Given the description of an element on the screen output the (x, y) to click on. 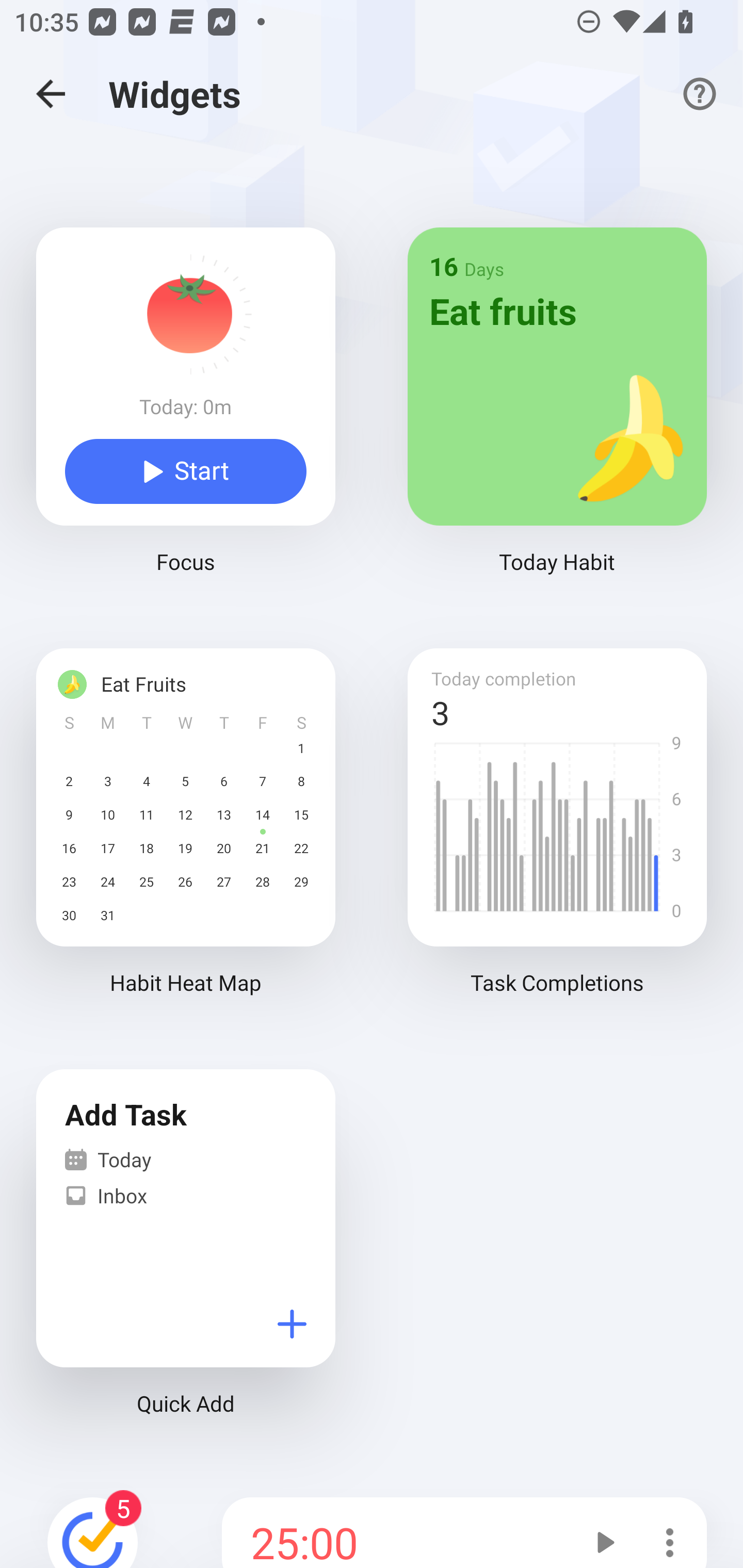
Today: 0m Start Focus (185, 420)
16 Days Eat fruits Today Habit (557, 420)
Today: 0m Start (185, 376)
16 Days Eat fruits (556, 376)
Start (185, 471)
Today completion 3 Task Completions (557, 840)
Today completion 3 (556, 797)
Add Task Today Inbox Quick Add (185, 1261)
Add Task Today Inbox (185, 1218)
5 (92, 1528)
25:00 (395, 1532)
